Given the description of an element on the screen output the (x, y) to click on. 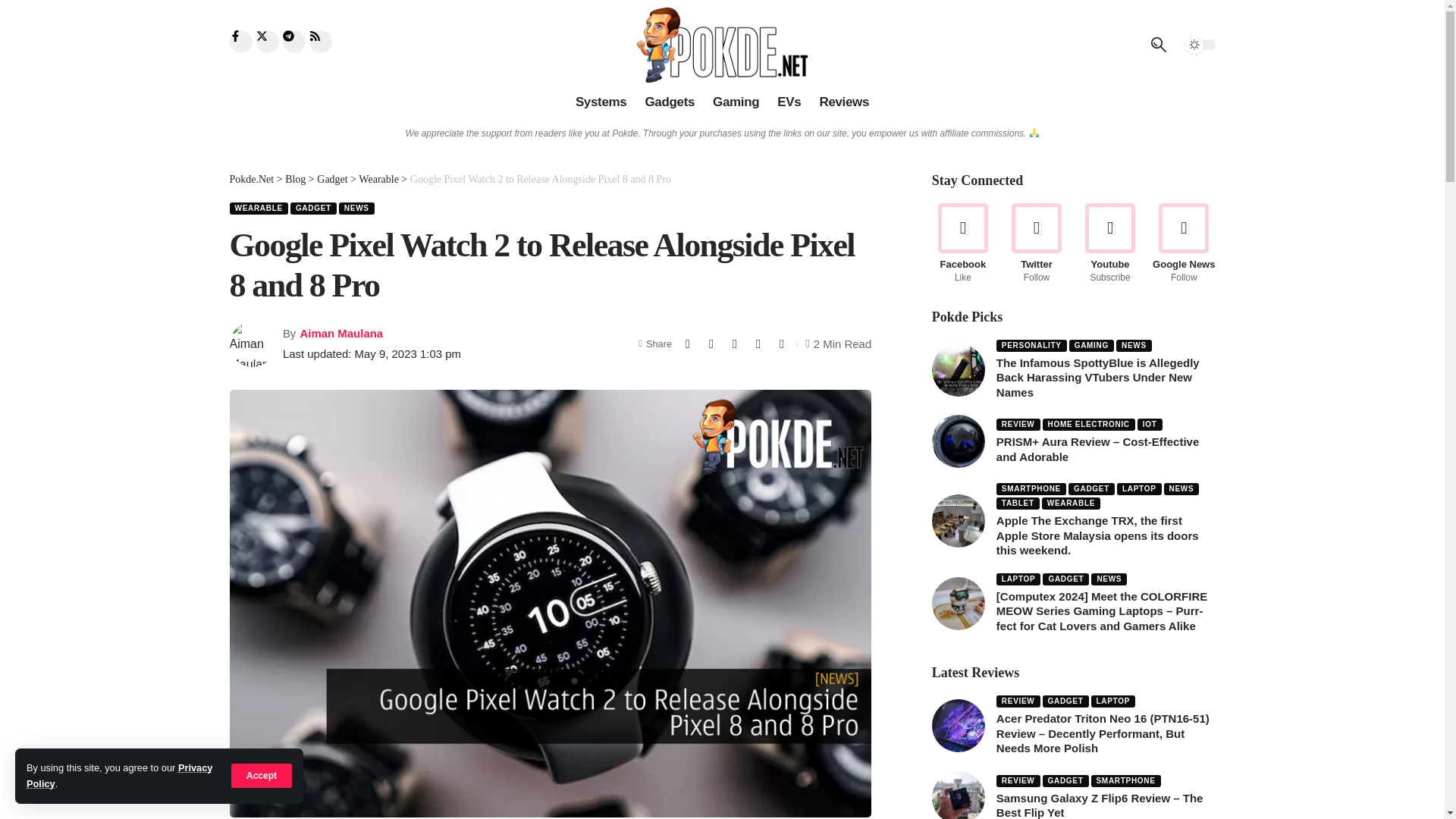
Go to Blog. (295, 179)
Go to the Gadget Category archives. (332, 179)
Privacy Policy (119, 775)
Go to the Wearable Category archives. (378, 179)
EVs (788, 102)
Reviews (843, 102)
Accept (261, 775)
Go to Pokde.Net. (250, 179)
Systems (601, 102)
Gadgets (668, 102)
Gaming (735, 102)
